Given the description of an element on the screen output the (x, y) to click on. 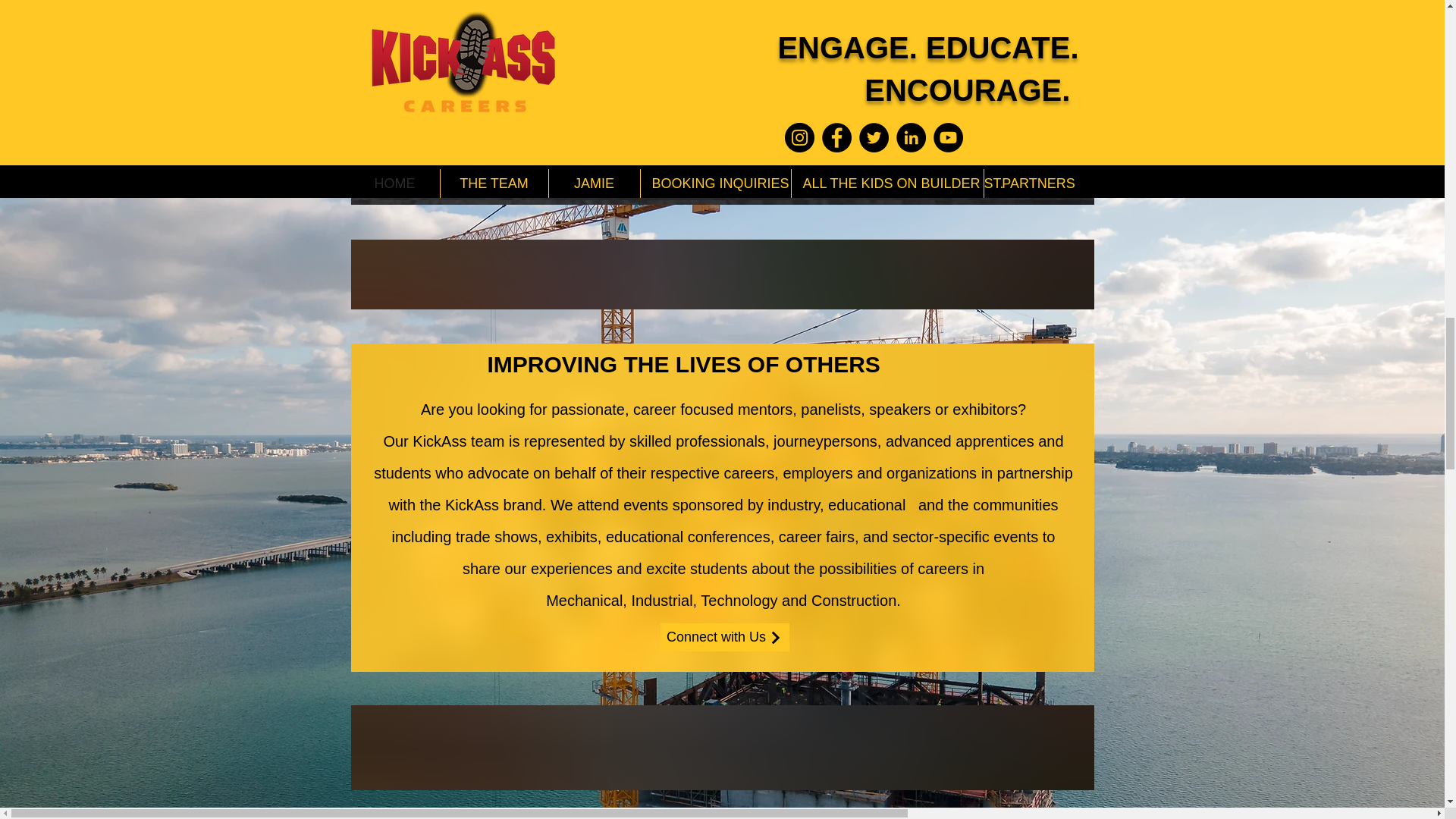
Connect with Us (724, 637)
